Given the description of an element on the screen output the (x, y) to click on. 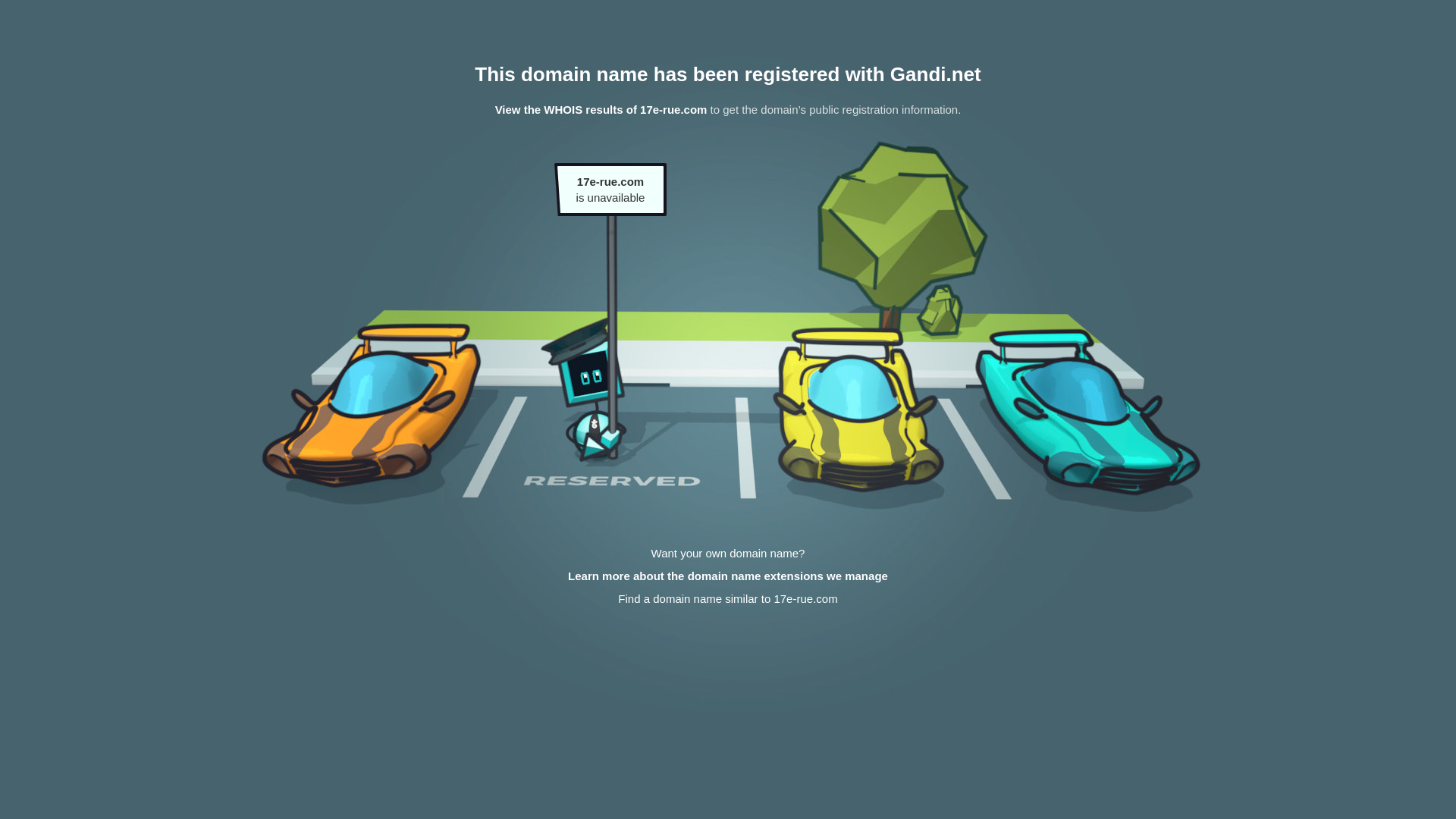
Find a domain name similar to 17e-rue.com Element type: text (727, 598)
Learn more about the domain name extensions we manage Element type: text (727, 575)
View the WHOIS results of 17e-rue.com Element type: text (601, 109)
